Given the description of an element on the screen output the (x, y) to click on. 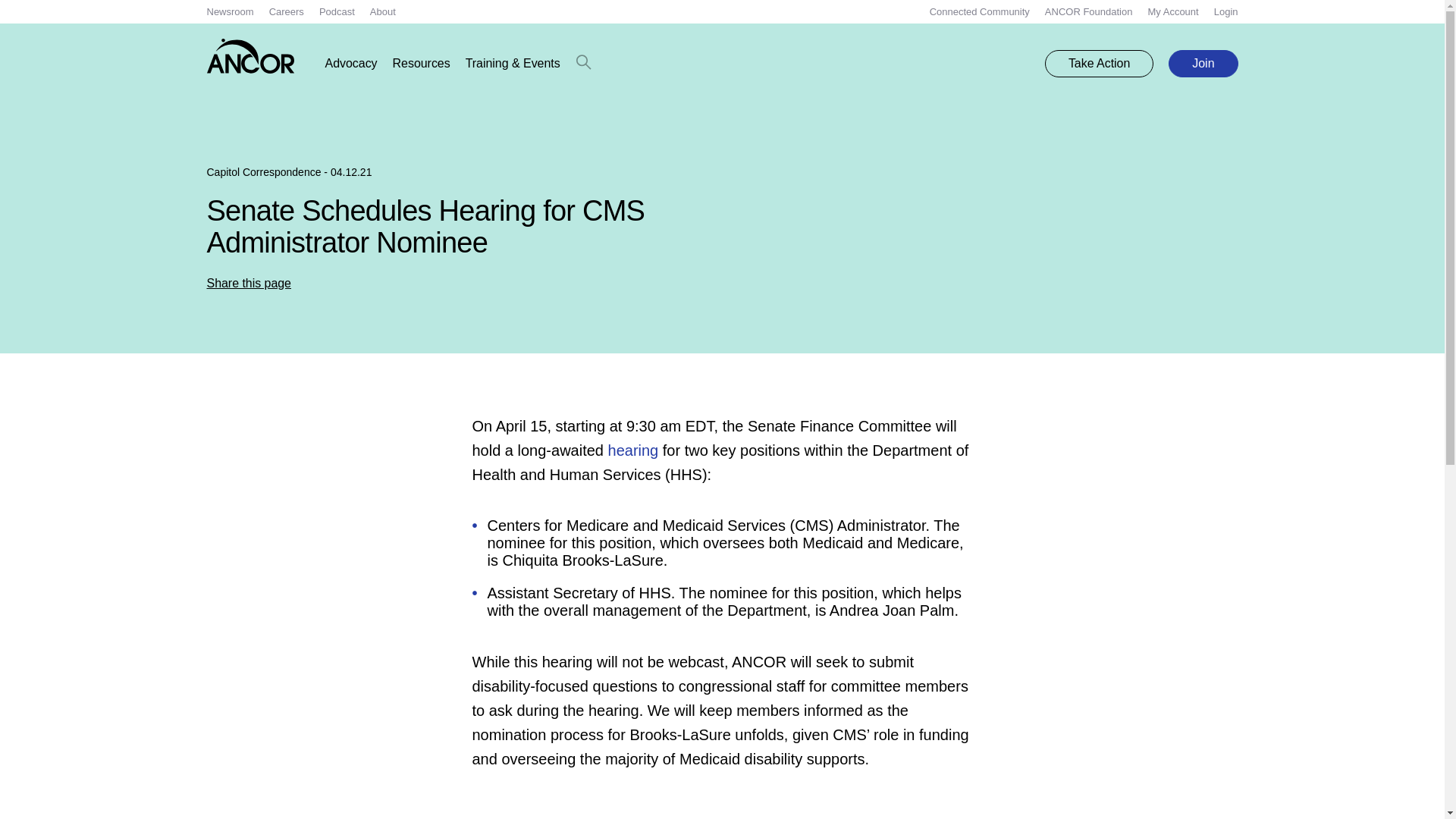
Login (1226, 11)
Podcast (336, 11)
About (382, 11)
Take Action (1099, 62)
Join (1203, 62)
Resources (421, 63)
ANCOR Foundation (1088, 11)
My Account (1172, 11)
Newsroom (229, 11)
Connected Community (979, 11)
